Given the description of an element on the screen output the (x, y) to click on. 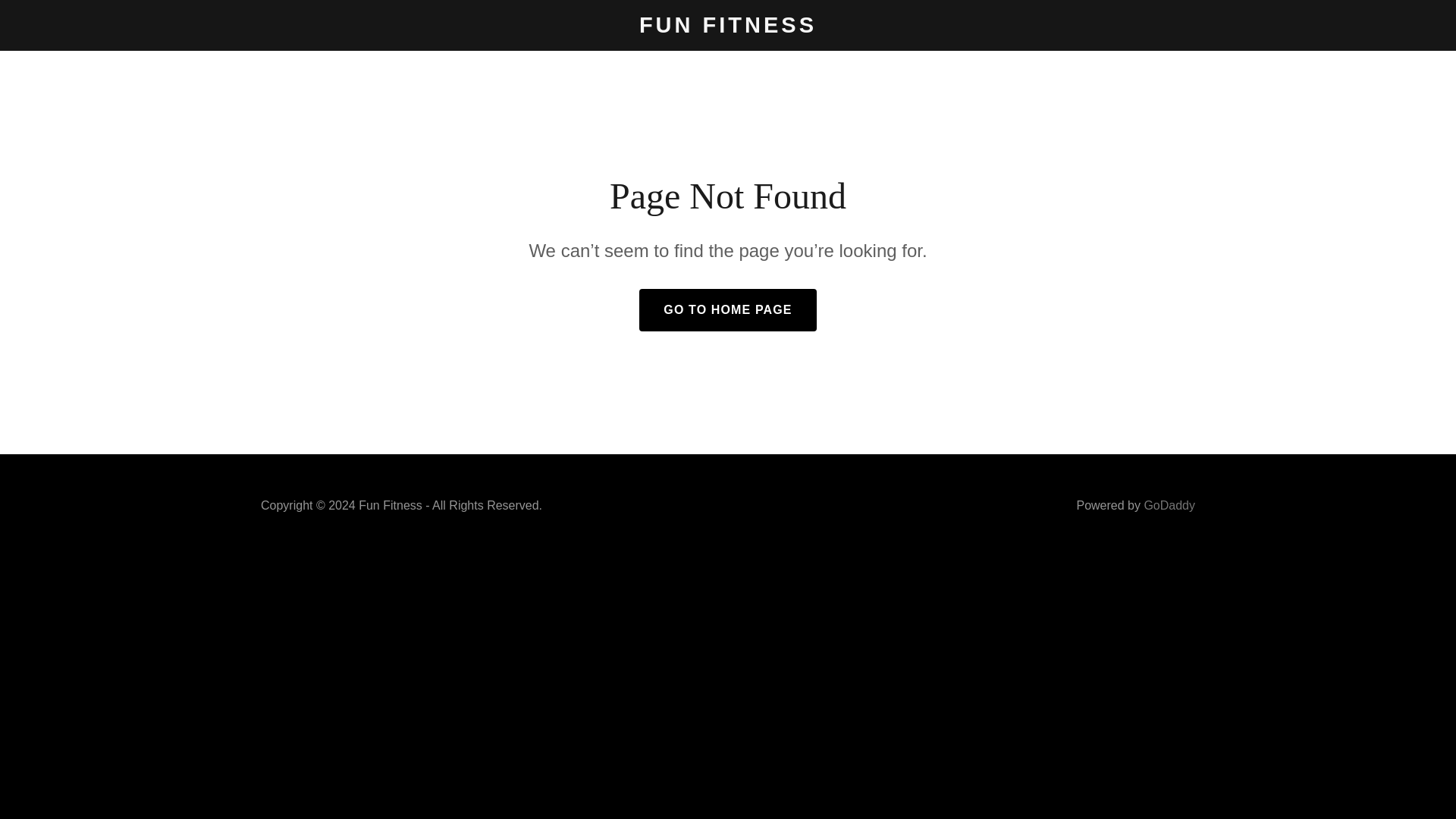
Fun Fitness (727, 28)
GoDaddy (1168, 504)
FUN FITNESS (727, 28)
GO TO HOME PAGE (727, 310)
